Given the description of an element on the screen output the (x, y) to click on. 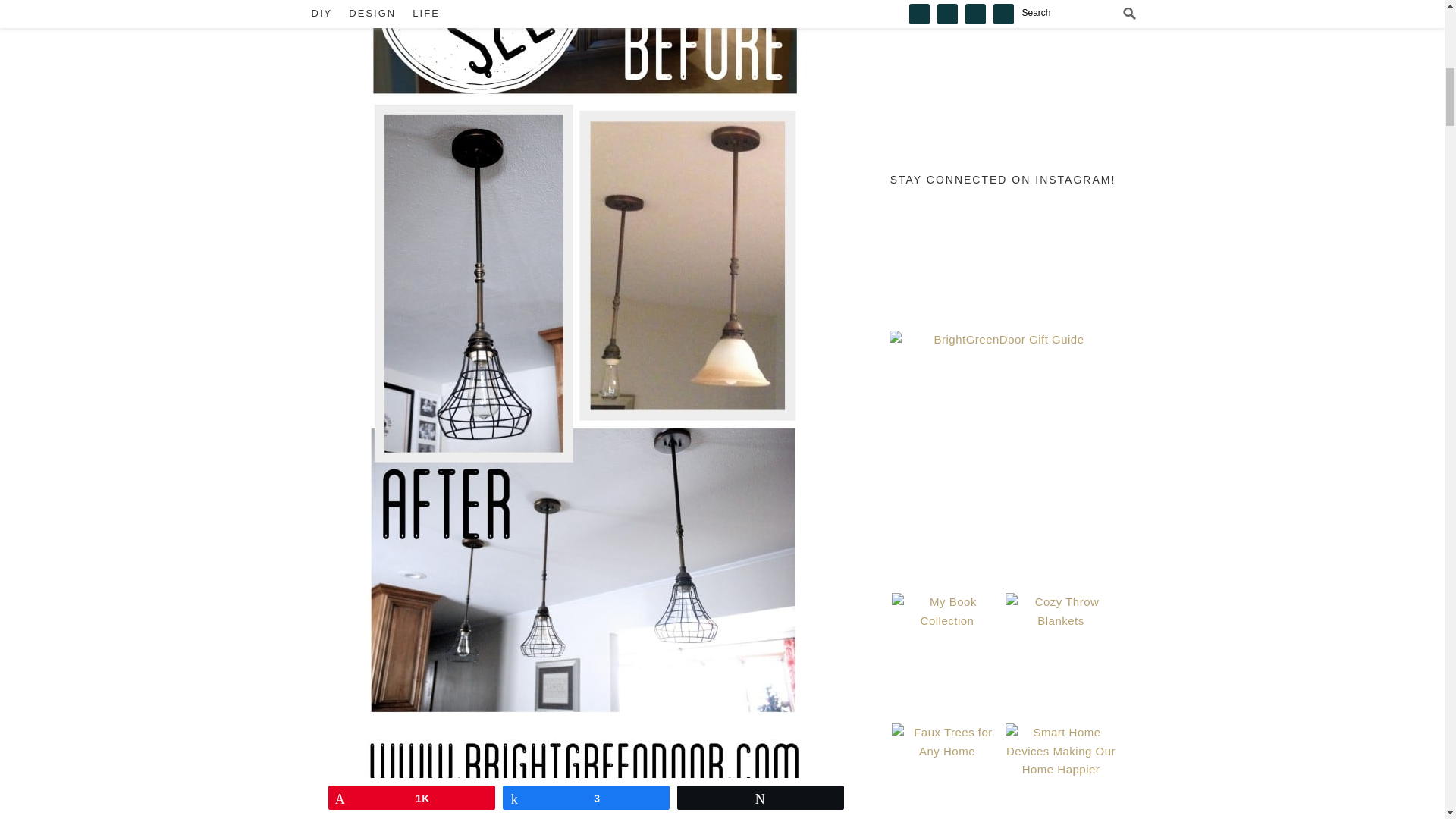
My Favorite Cozy Throw Blankets (1061, 648)
My Favorite Faux Trees for Every Home (947, 771)
Bright Green Door Gift Guide (1002, 444)
Smart Home Devices Making our Home Happier! (1061, 771)
My Book Collection- Books I Keep and How I Store Them (947, 648)
